Given the description of an element on the screen output the (x, y) to click on. 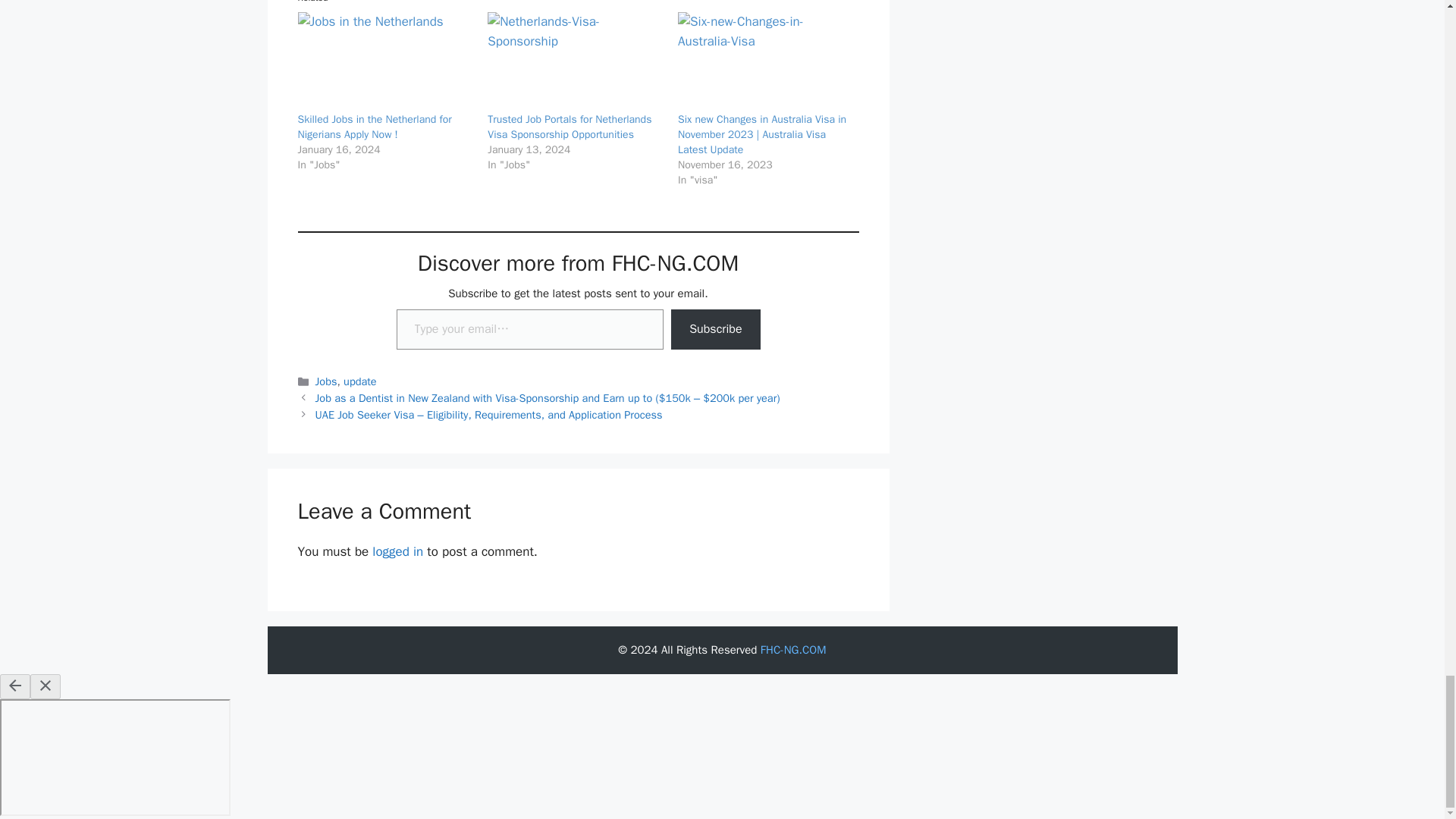
Skilled Jobs in the Netherland for Nigerians Apply Now ! (384, 62)
Skilled Jobs in the Netherland for Nigerians Apply Now ! (374, 126)
Skilled Jobs in the Netherland for Nigerians Apply Now ! (374, 126)
Please fill in this field. (529, 329)
